Given the description of an element on the screen output the (x, y) to click on. 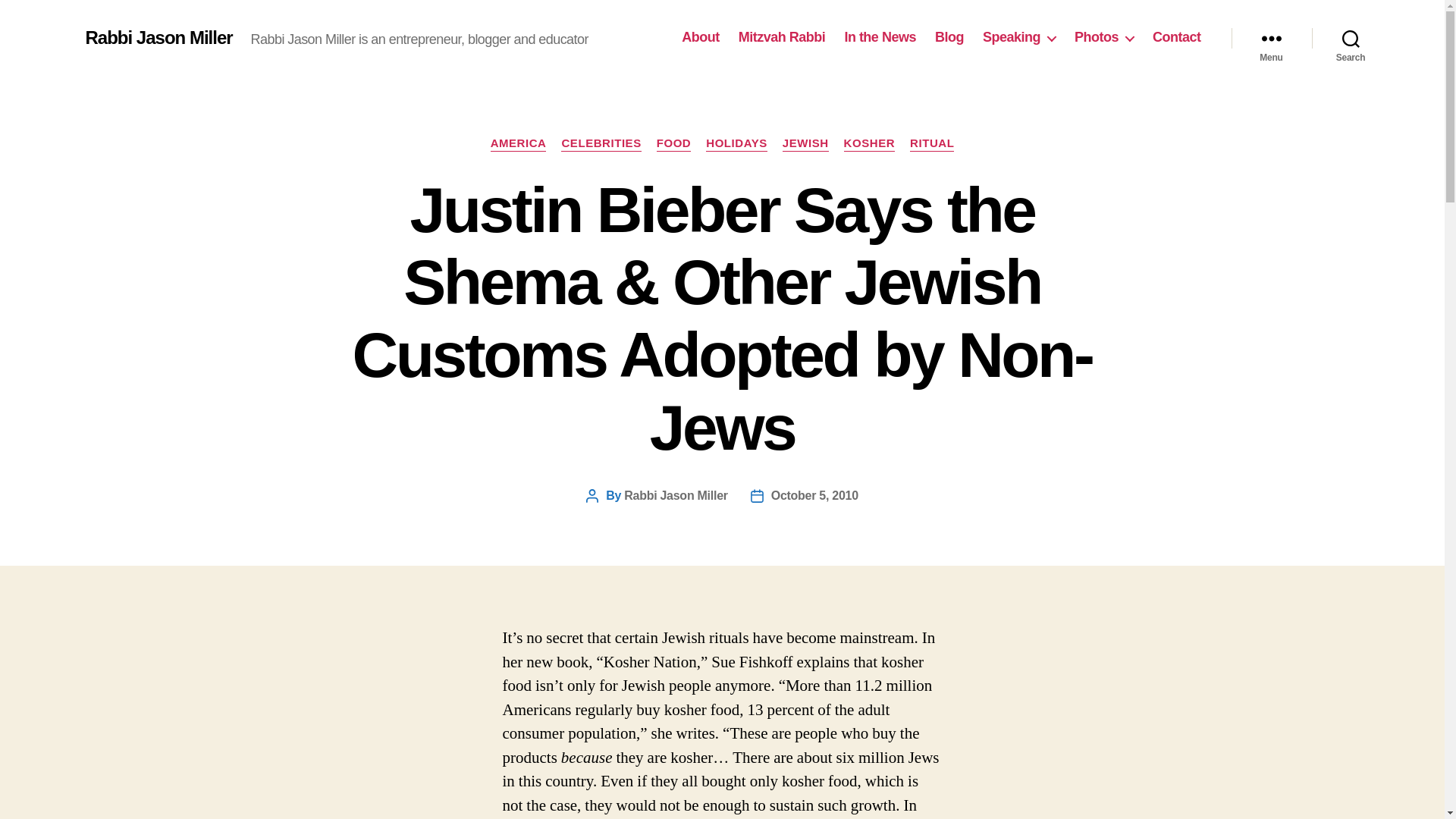
Menu (1271, 37)
Rabbi Jason Miller (157, 37)
Blog (948, 37)
About (700, 37)
Mitzvah Rabbi (781, 37)
Photos (1104, 37)
Speaking (1018, 37)
Search (1350, 37)
Contact (1177, 37)
In the News (879, 37)
